Given the description of an element on the screen output the (x, y) to click on. 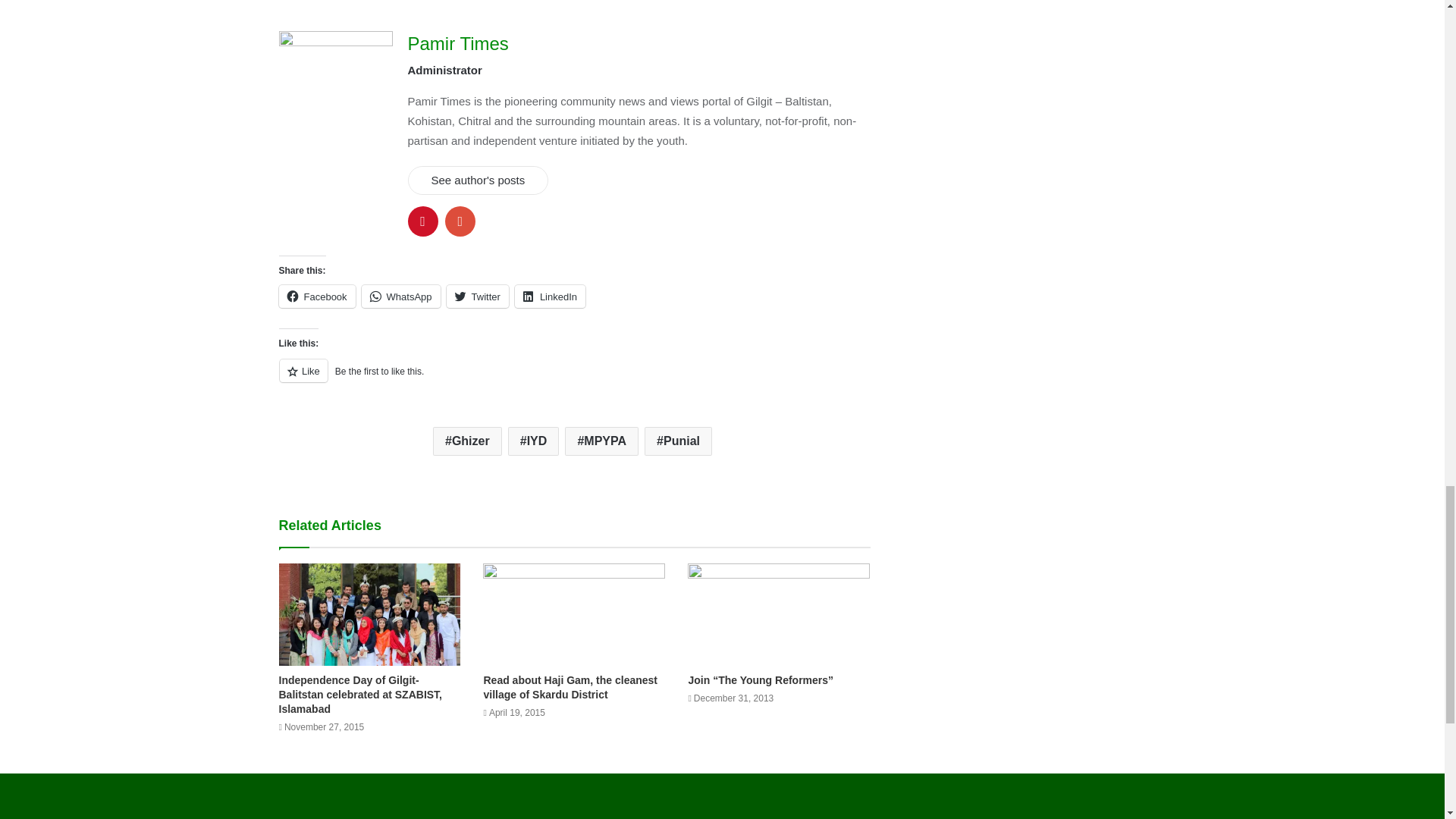
Click to share on Twitter (477, 296)
MPYPA (601, 440)
Click to share on WhatsApp (401, 296)
Ghizer (467, 440)
Click to share on Facebook (317, 296)
Click to share on LinkedIn (550, 296)
See author's posts (477, 180)
Twitter (477, 296)
Facebook (317, 296)
LinkedIn (550, 296)
Pamir Times (457, 43)
Punial (678, 440)
WhatsApp (401, 296)
IYD (533, 440)
